Given the description of an element on the screen output the (x, y) to click on. 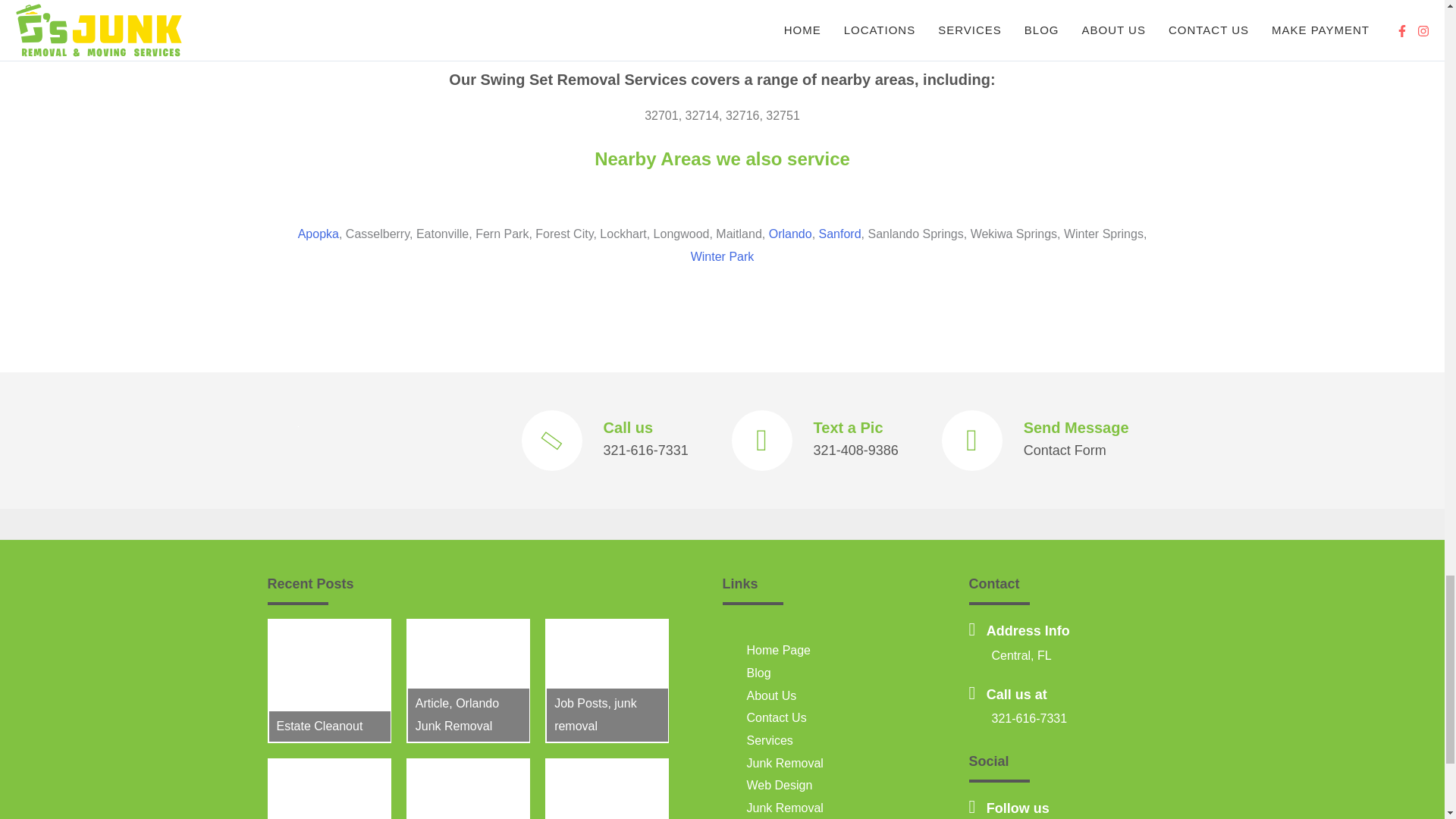
Sanford (839, 233)
Orlando (790, 233)
Winter Park (722, 256)
Apopka (318, 233)
Text a Pic (848, 427)
